Given the description of an element on the screen output the (x, y) to click on. 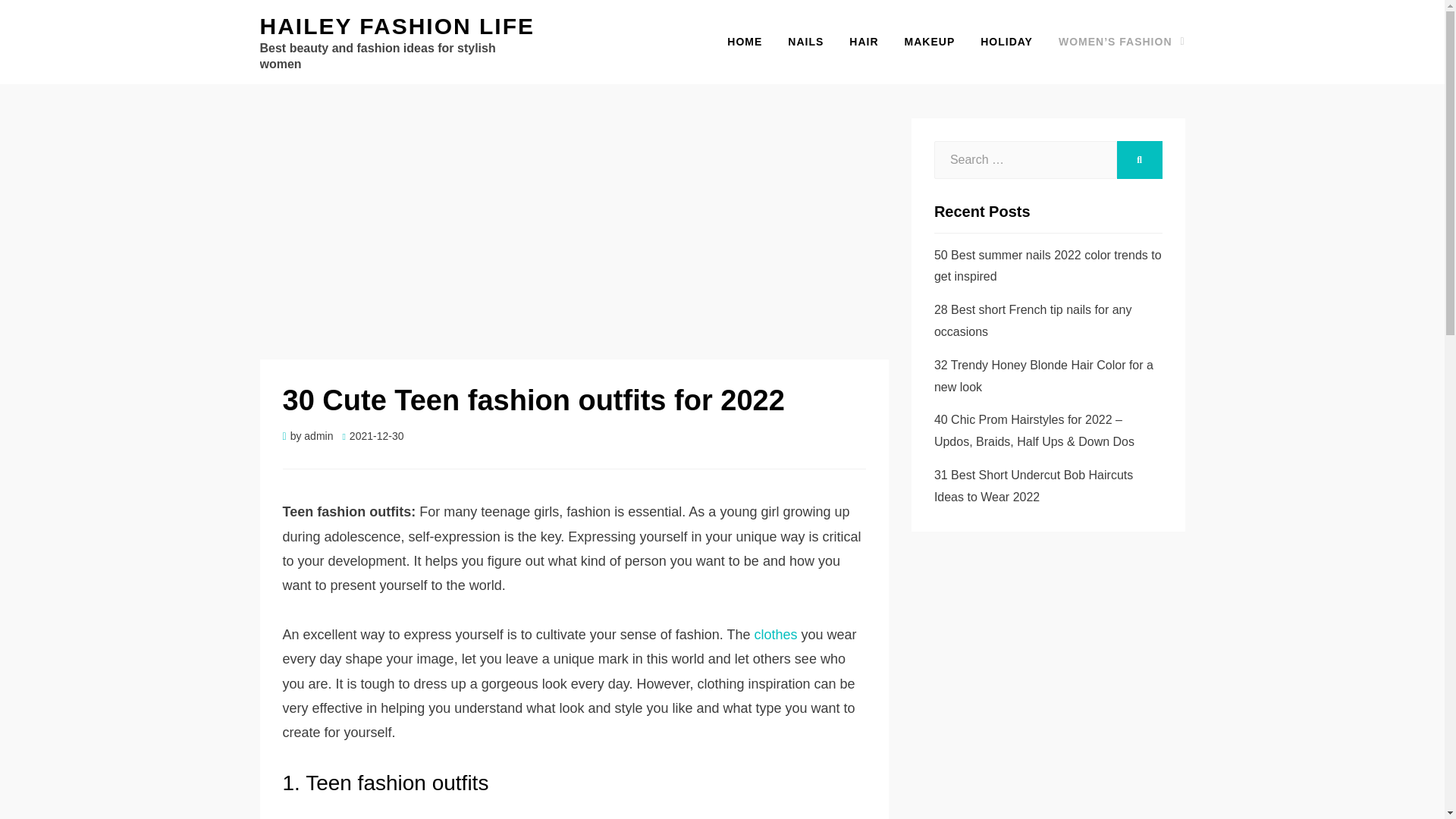
clothes (775, 634)
MAKEUP (929, 41)
Advertisement (574, 230)
admin (318, 435)
NAILS (804, 41)
2021-12-30 (372, 435)
HOLIDAY (1006, 41)
Search for: (1025, 159)
Hailey Fashion Life (396, 25)
HAILEY FASHION LIFE (396, 25)
HAIR (863, 41)
HOME (744, 41)
